Given the description of an element on the screen output the (x, y) to click on. 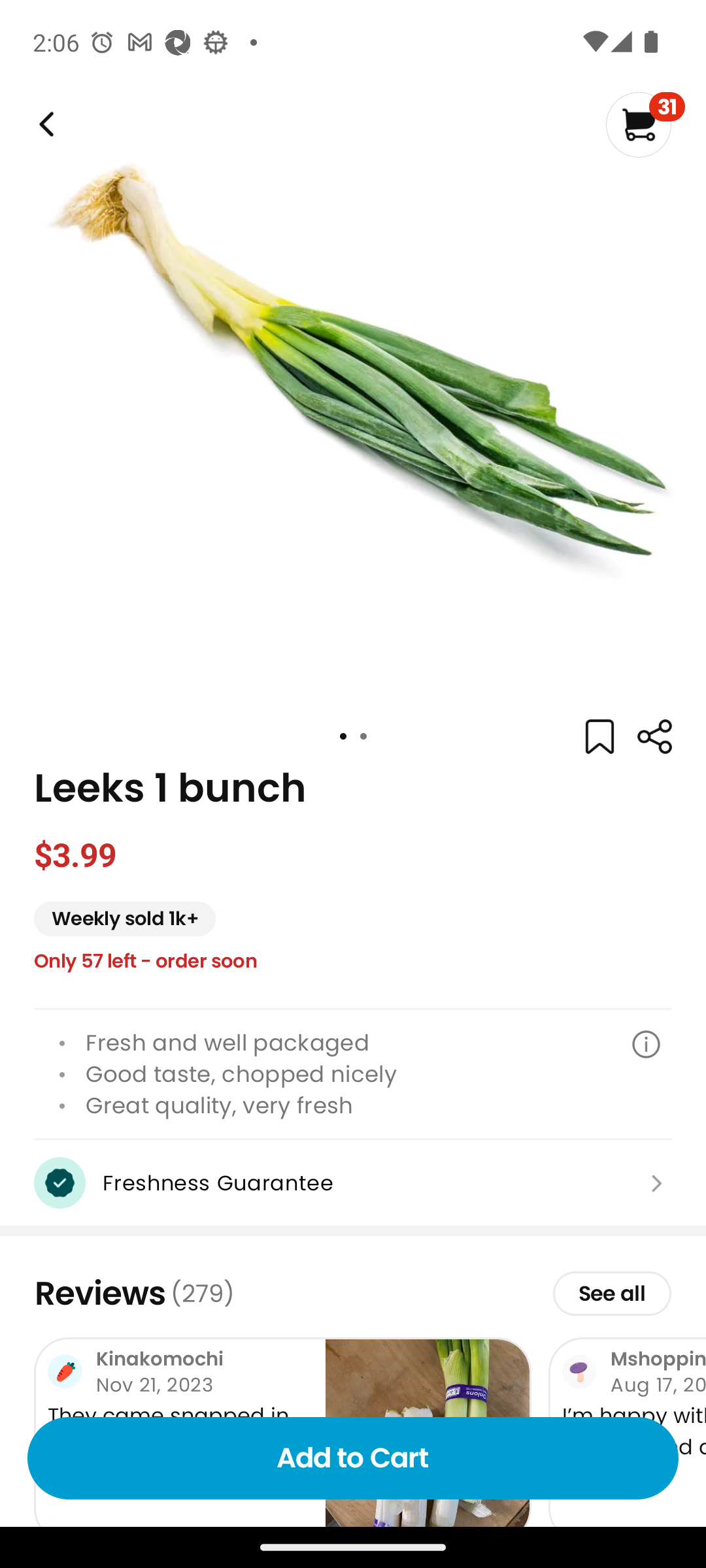
31 (644, 124)
Weee! (45, 124)
Weee! (653, 736)
Freshness Guarantee (352, 1182)
Reviews (279) See all (353, 1293)
Add to Cart (352, 1458)
